Given the description of an element on the screen output the (x, y) to click on. 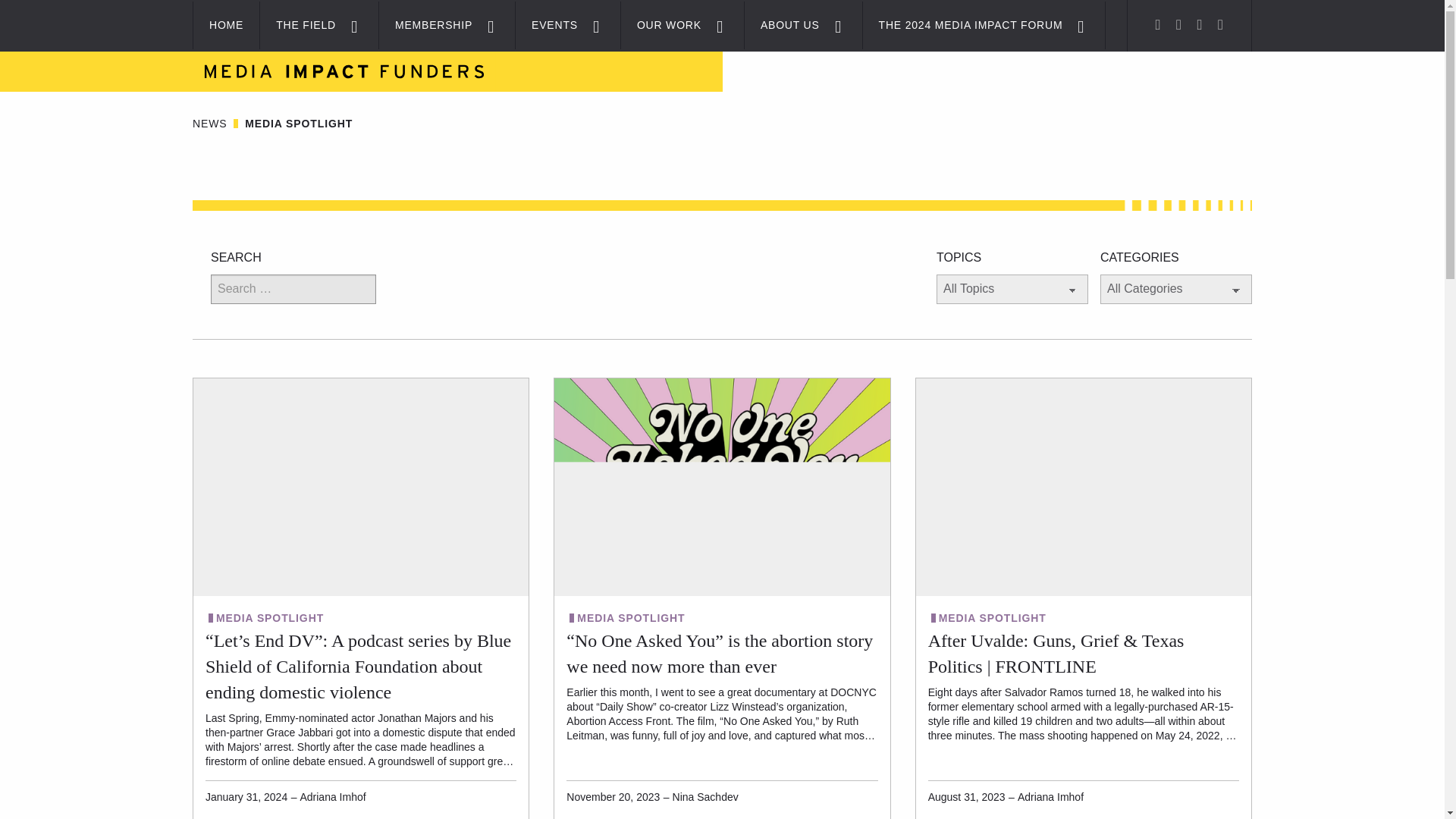
MEMBERSHIP (424, 25)
HOME (226, 25)
THE 2024 MEDIA IMPACT FORUM (962, 25)
OUR WORK (661, 25)
Go to News. (209, 123)
THE FIELD (298, 25)
EVENTS (546, 25)
ABOUT US (781, 25)
